Given the description of an element on the screen output the (x, y) to click on. 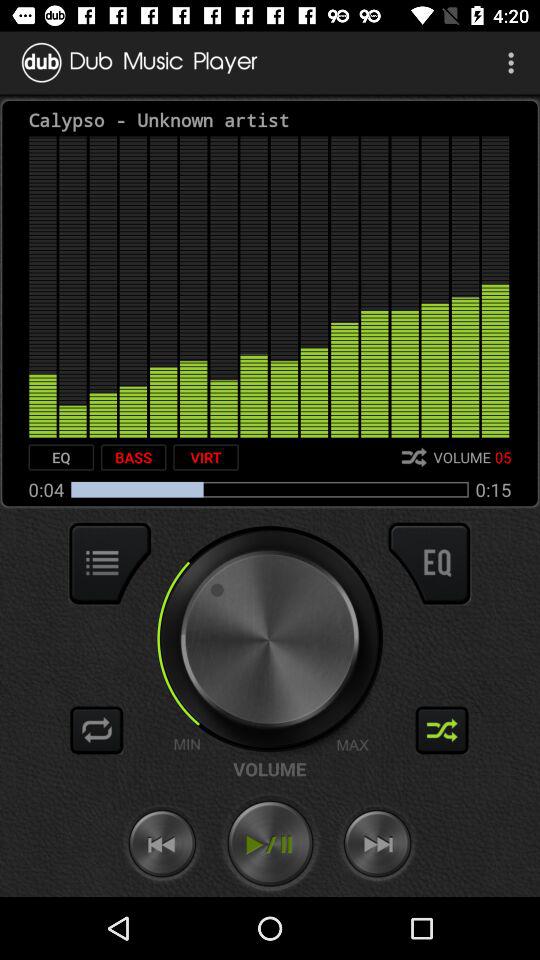
tap eq (61, 457)
